Given the description of an element on the screen output the (x, y) to click on. 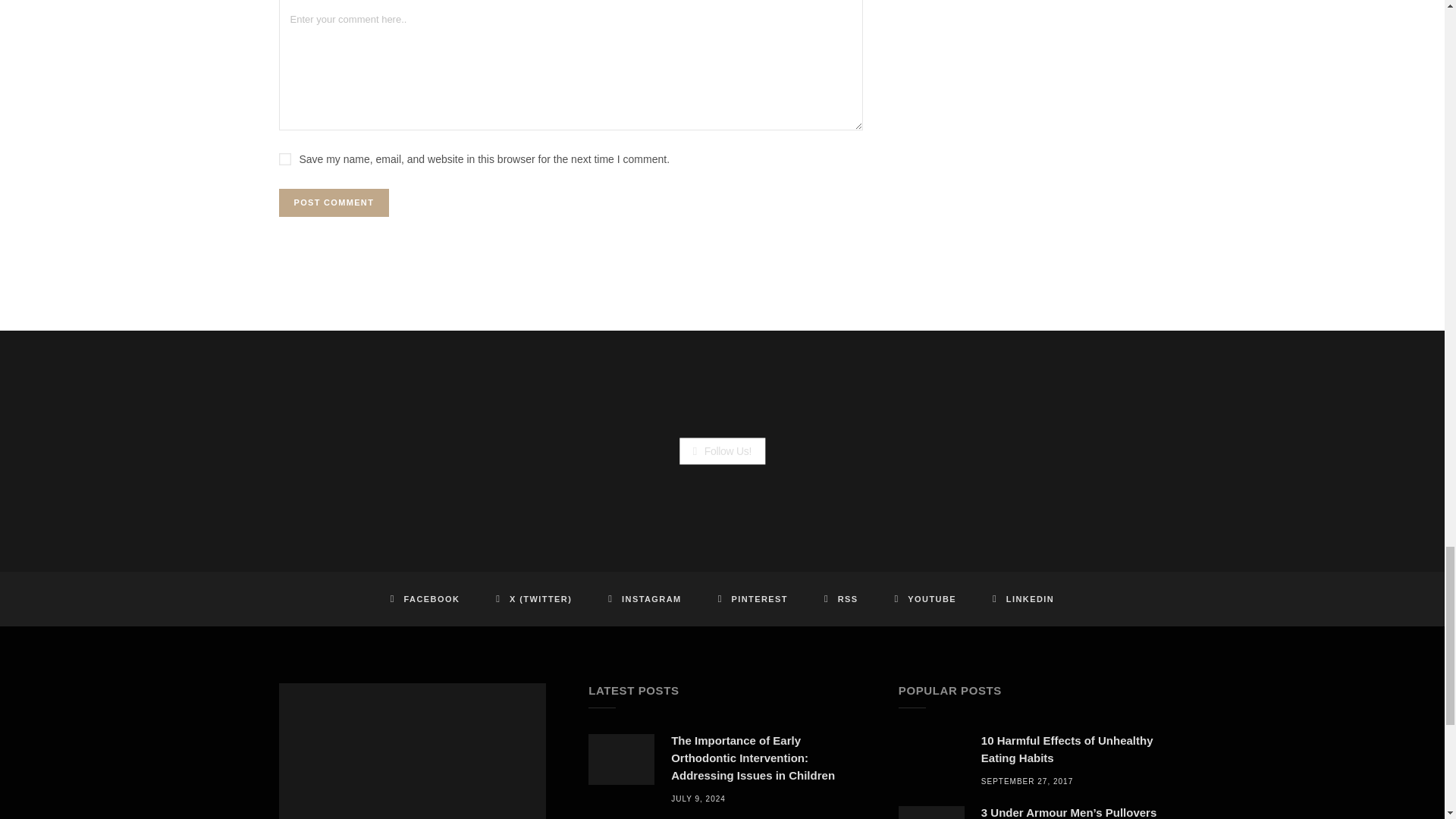
yes (285, 159)
Post Comment (334, 203)
